Given the description of an element on the screen output the (x, y) to click on. 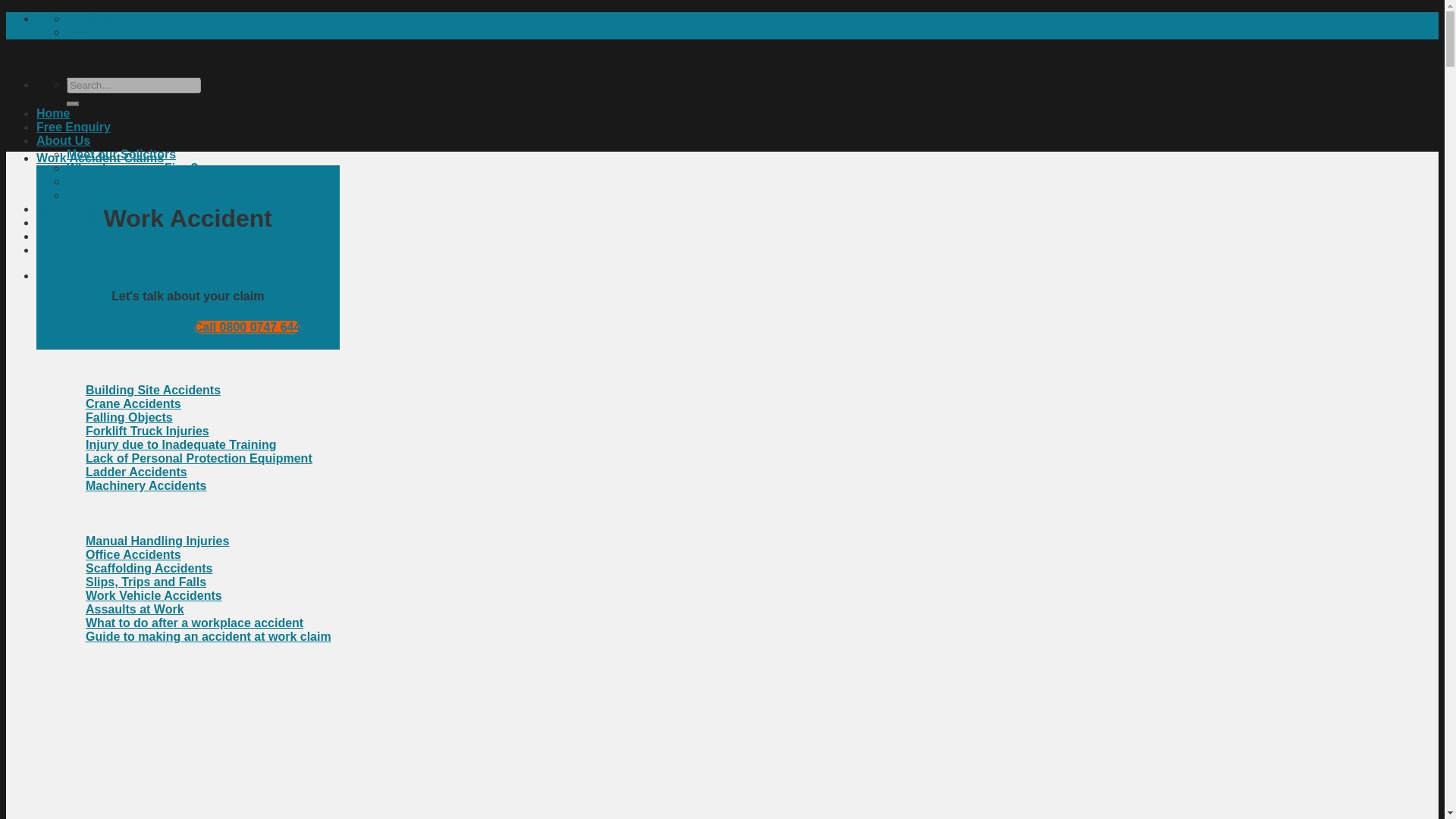
Work Accident Claims (99, 157)
Crane Accidents (132, 403)
Scaffolding Accidents (148, 567)
Machinery Accidents (145, 485)
Free Enquiry (73, 126)
Meet our Solicitors (121, 154)
Lack of Personal Protection Equipment (199, 458)
0800 0747 644 (107, 31)
Injury due to Inadequate Training (180, 444)
